Given the description of an element on the screen output the (x, y) to click on. 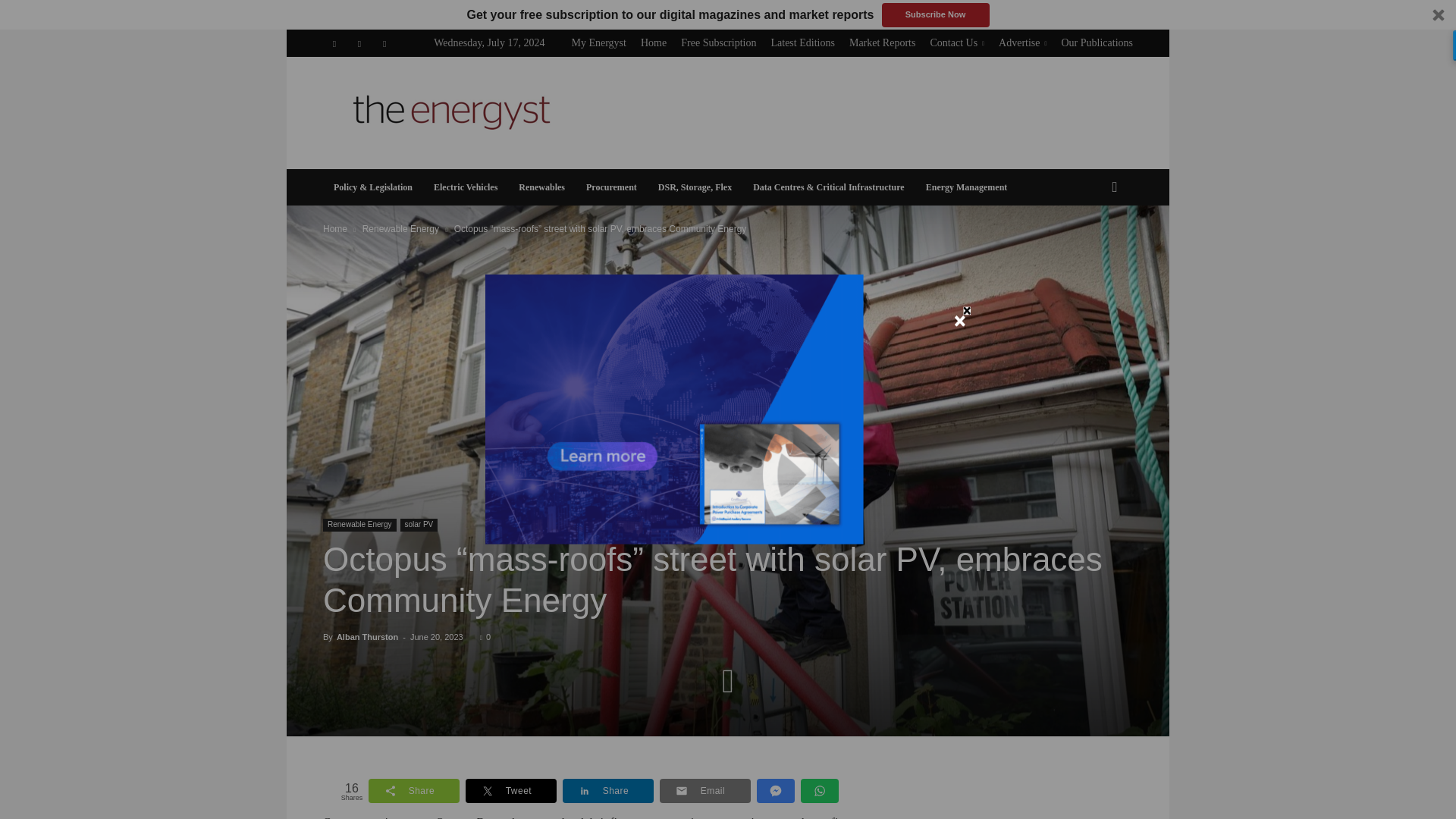
Search (1091, 247)
Electric Vehicles (465, 186)
Procurement (611, 186)
My Energyst (598, 42)
Home (653, 42)
Home (335, 228)
Market Reports (881, 42)
3rd party ad content (856, 111)
Advertise (1022, 42)
DSR, Storage, Flex (694, 186)
View all posts in Renewable Energy (400, 228)
Contact Us (957, 42)
Free Subscription (718, 42)
Subscribe Now (934, 15)
Our Publications (1097, 42)
